Given the description of an element on the screen output the (x, y) to click on. 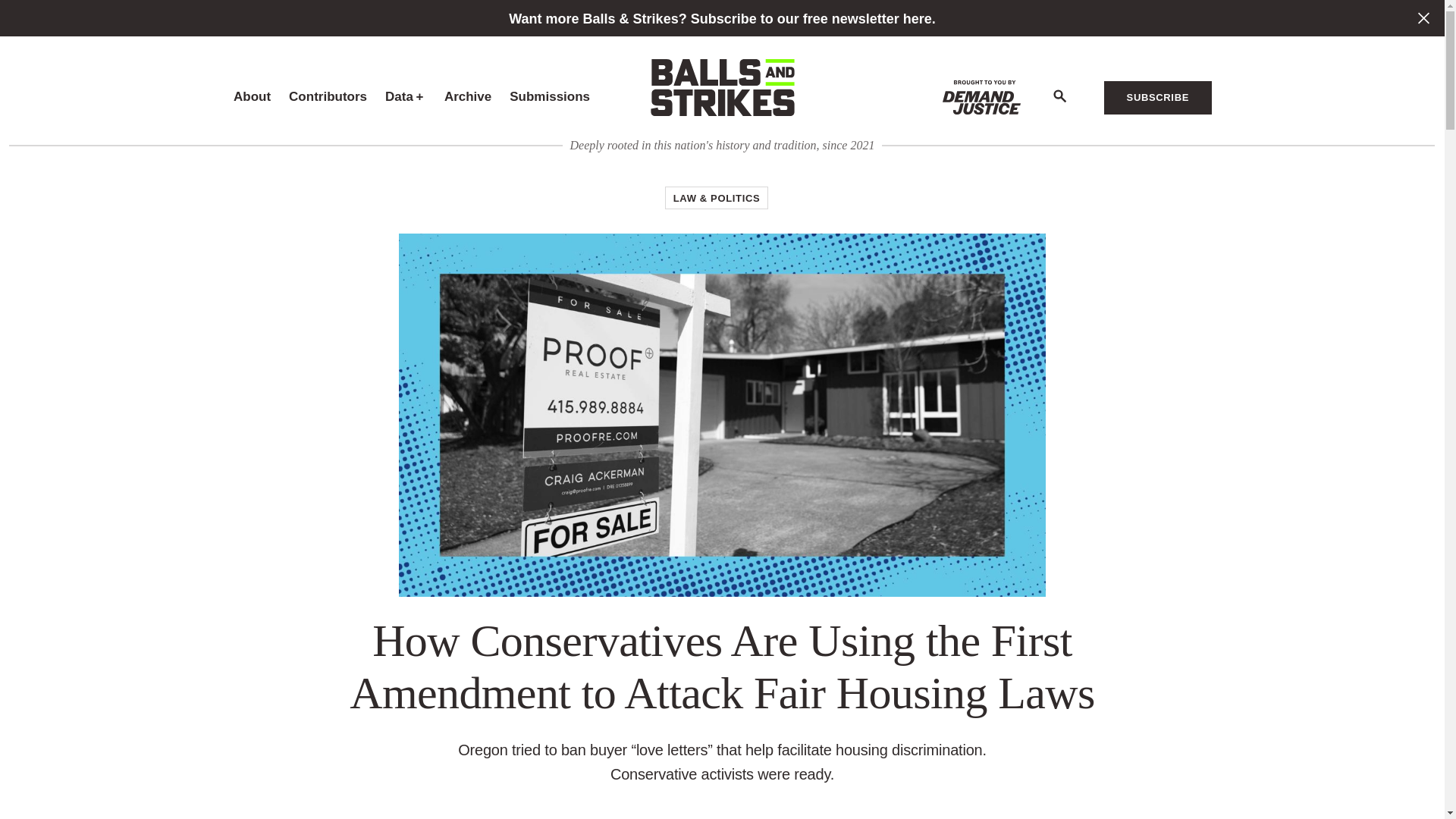
SUBSCRIBE (1157, 96)
Archive (467, 97)
Submissions (549, 97)
Link to subscribe to newsletter (722, 18)
Search (1058, 96)
About (251, 97)
Data (399, 96)
Contributors (327, 97)
